Given the description of an element on the screen output the (x, y) to click on. 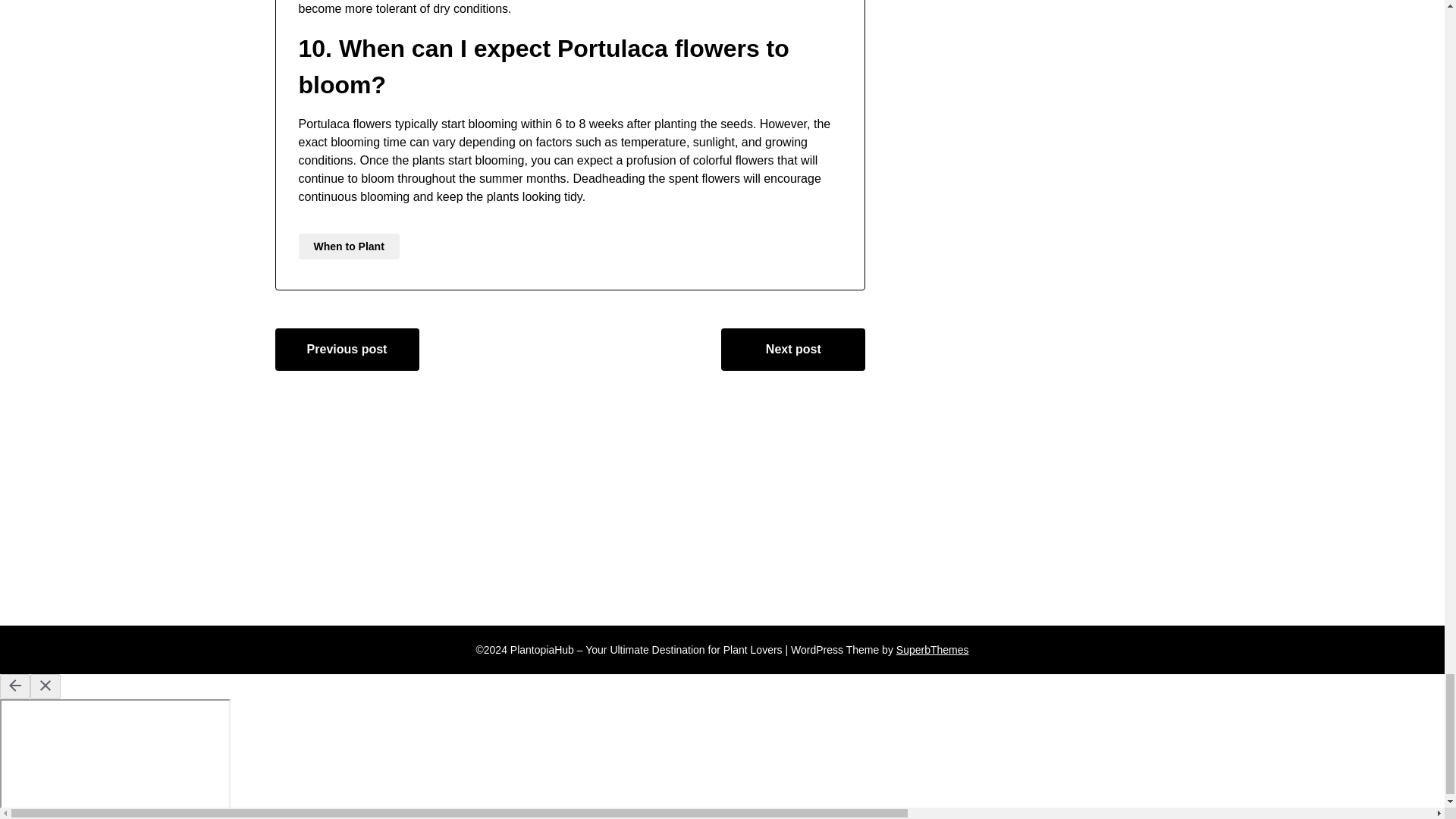
Next post (792, 349)
When to Plant (348, 246)
Previous post (347, 349)
